Given the description of an element on the screen output the (x, y) to click on. 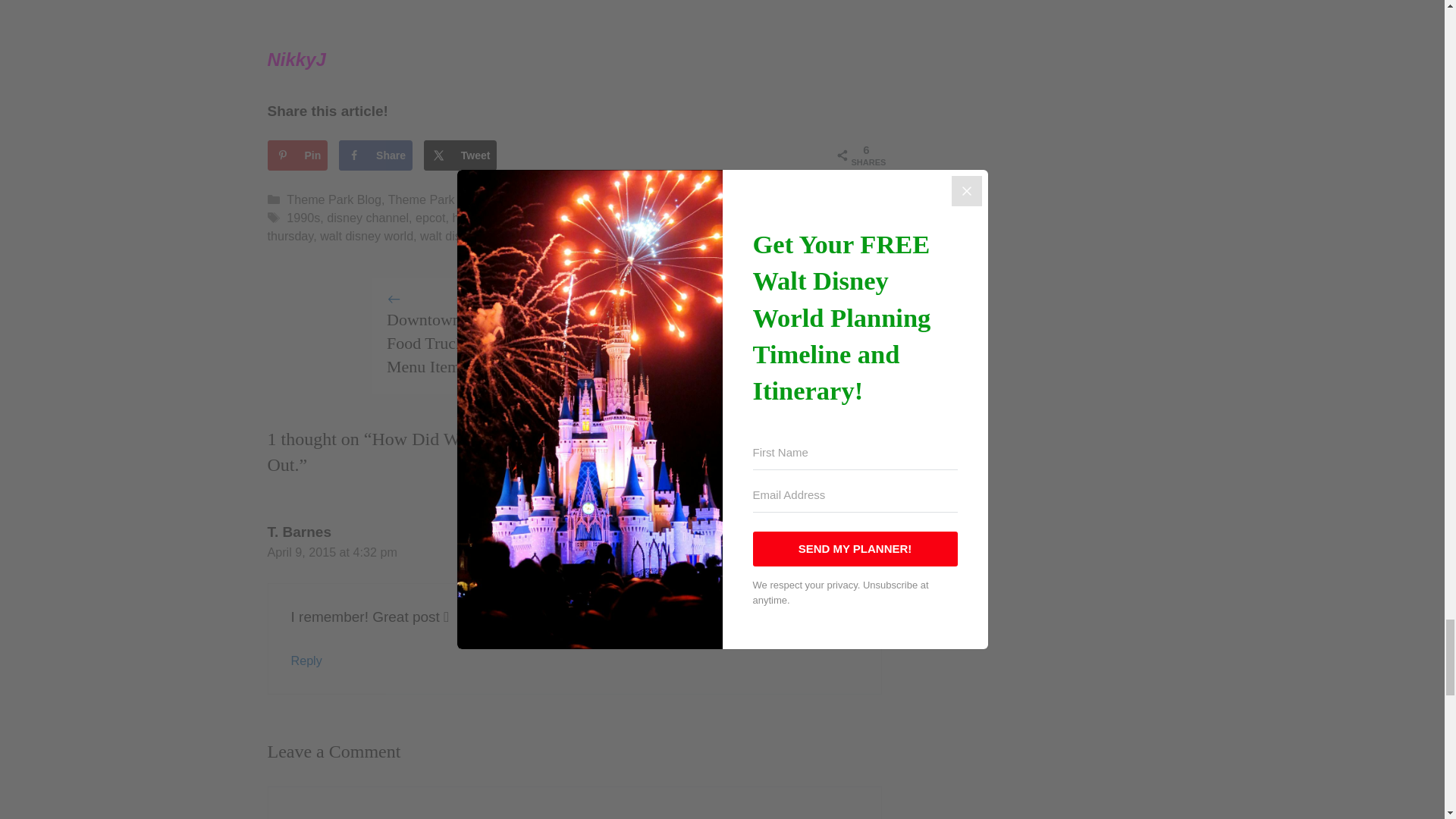
Share on X (460, 155)
Share on Facebook (375, 155)
Save to Pinterest (296, 155)
